Given the description of an element on the screen output the (x, y) to click on. 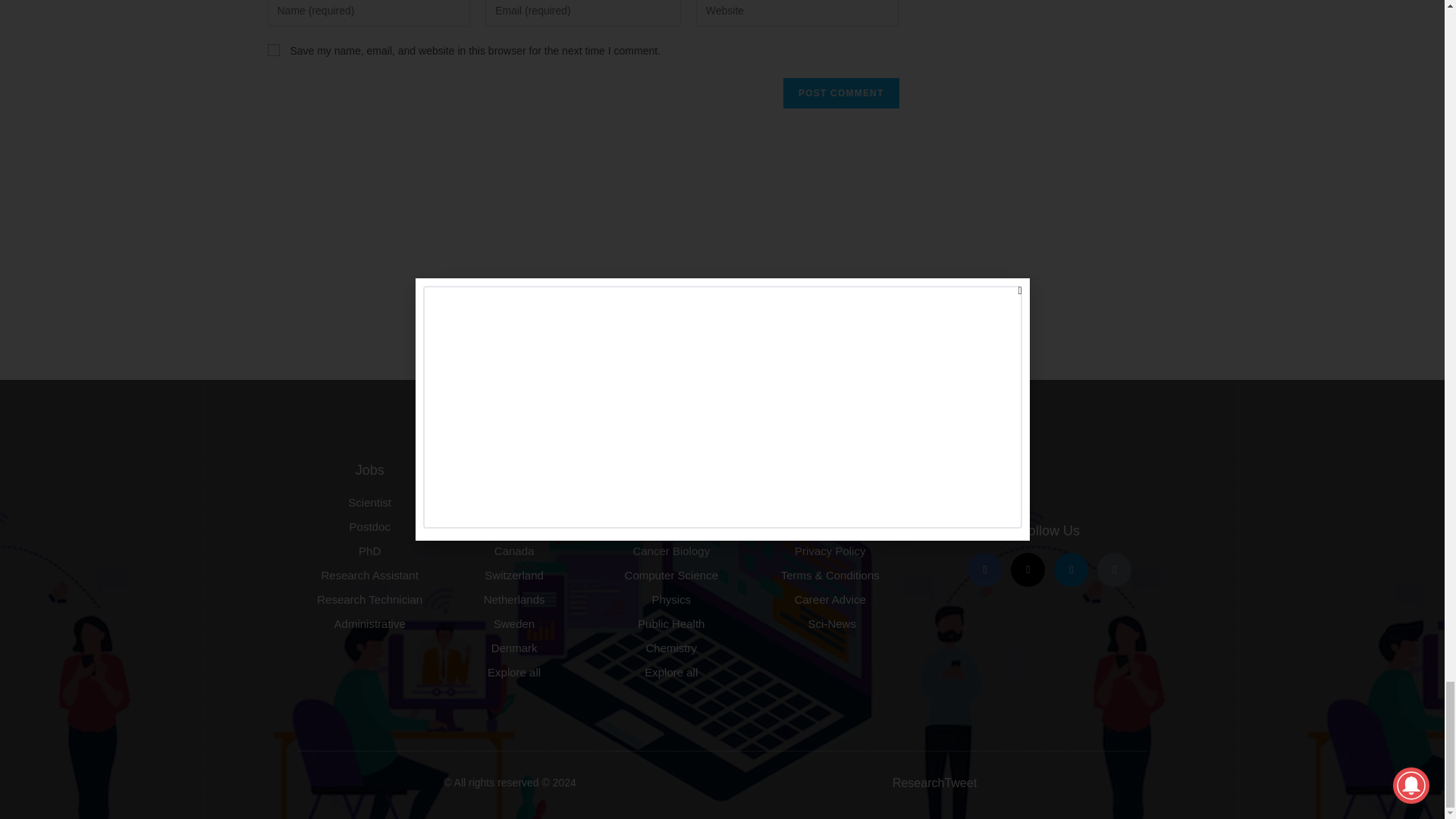
Post Comment (840, 92)
yes (272, 50)
